Given the description of an element on the screen output the (x, y) to click on. 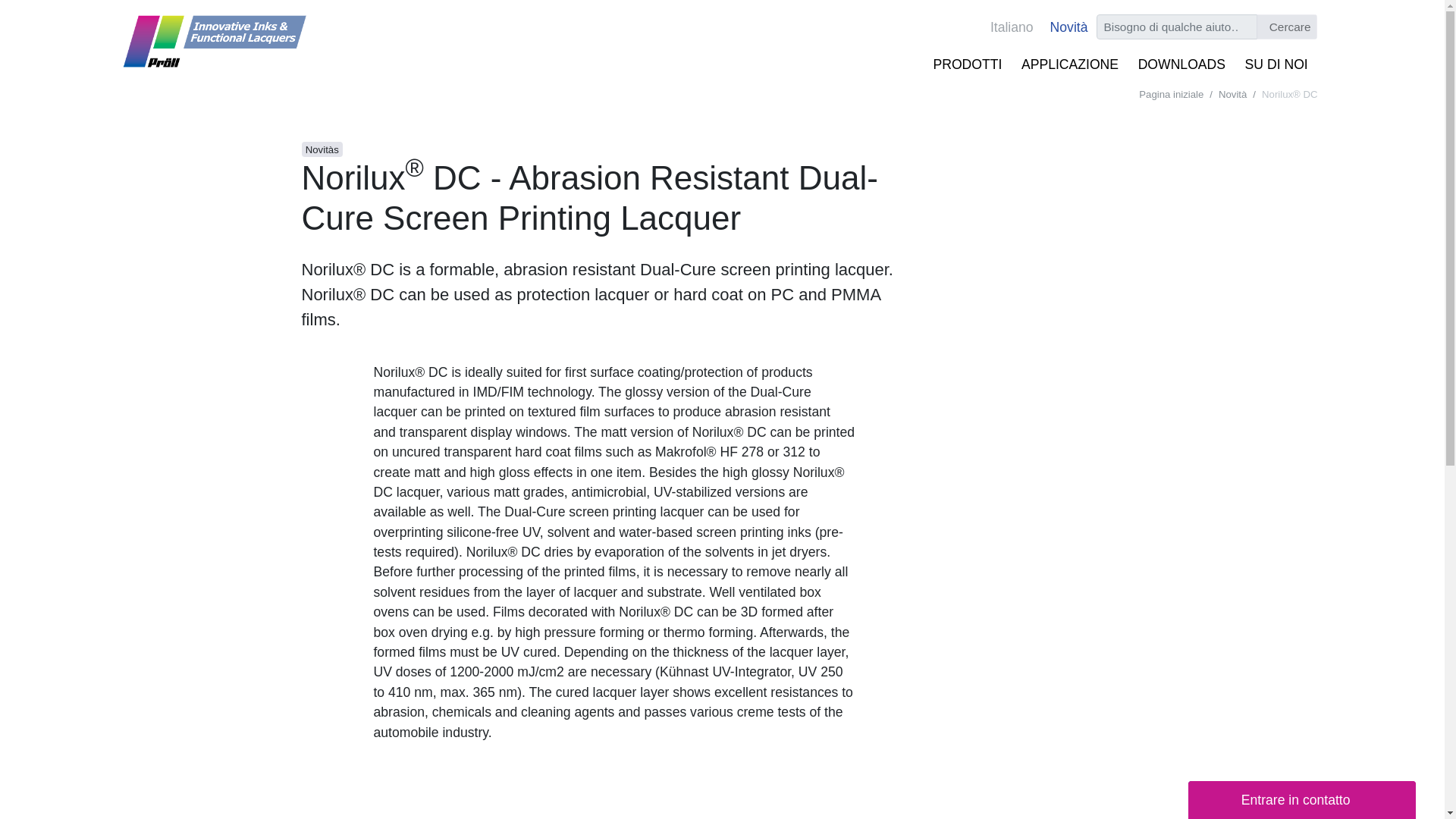
Italiano (1008, 27)
SU DI NOI (1275, 64)
Pagina iniziale (1171, 93)
APPLICAZIONE (1069, 64)
PRODOTTI (967, 64)
Pagina iniziale (1171, 93)
DOWNLOADS (1181, 64)
Cercare (1286, 26)
